Given the description of an element on the screen output the (x, y) to click on. 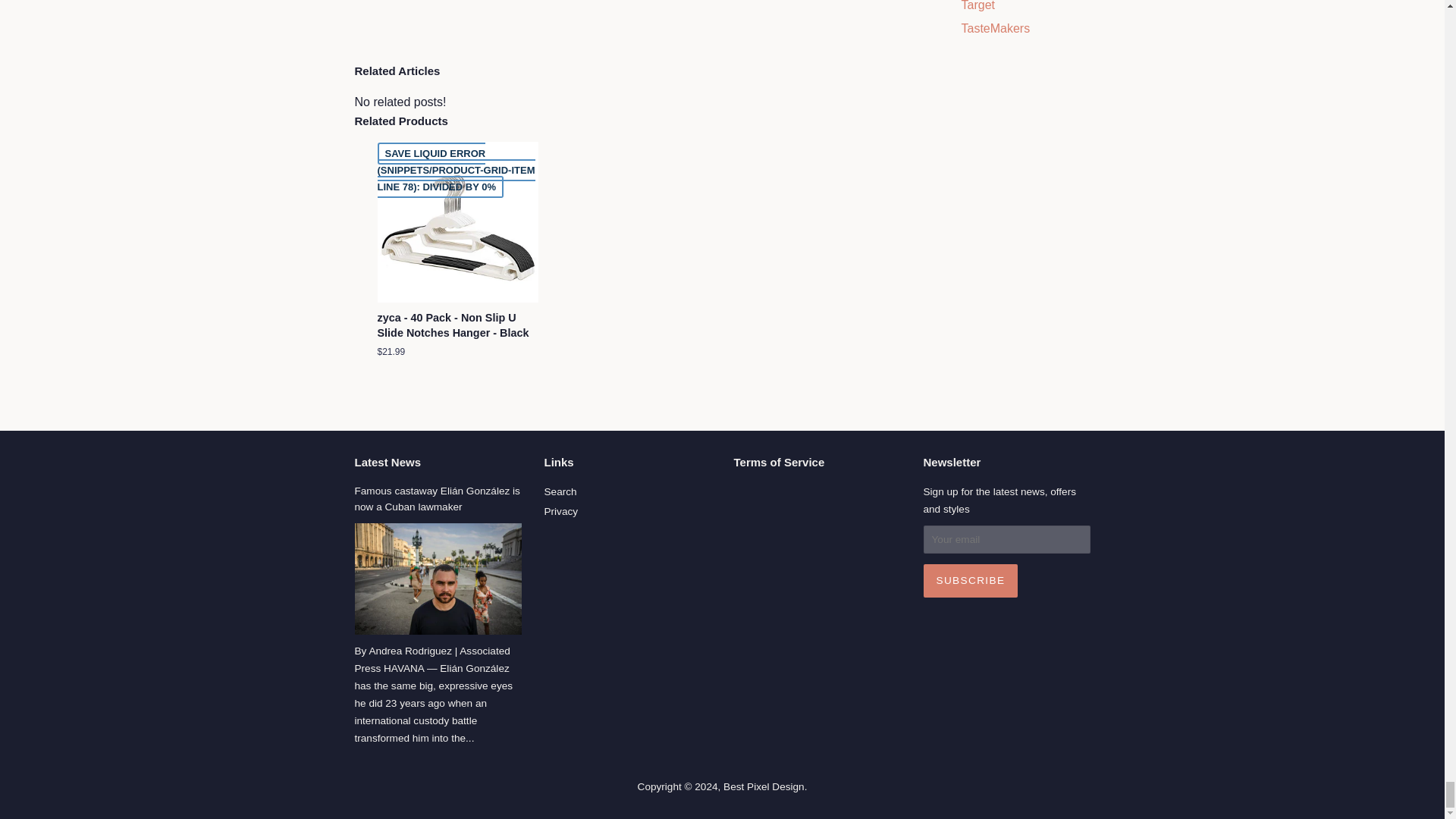
Subscribe (970, 580)
